Given the description of an element on the screen output the (x, y) to click on. 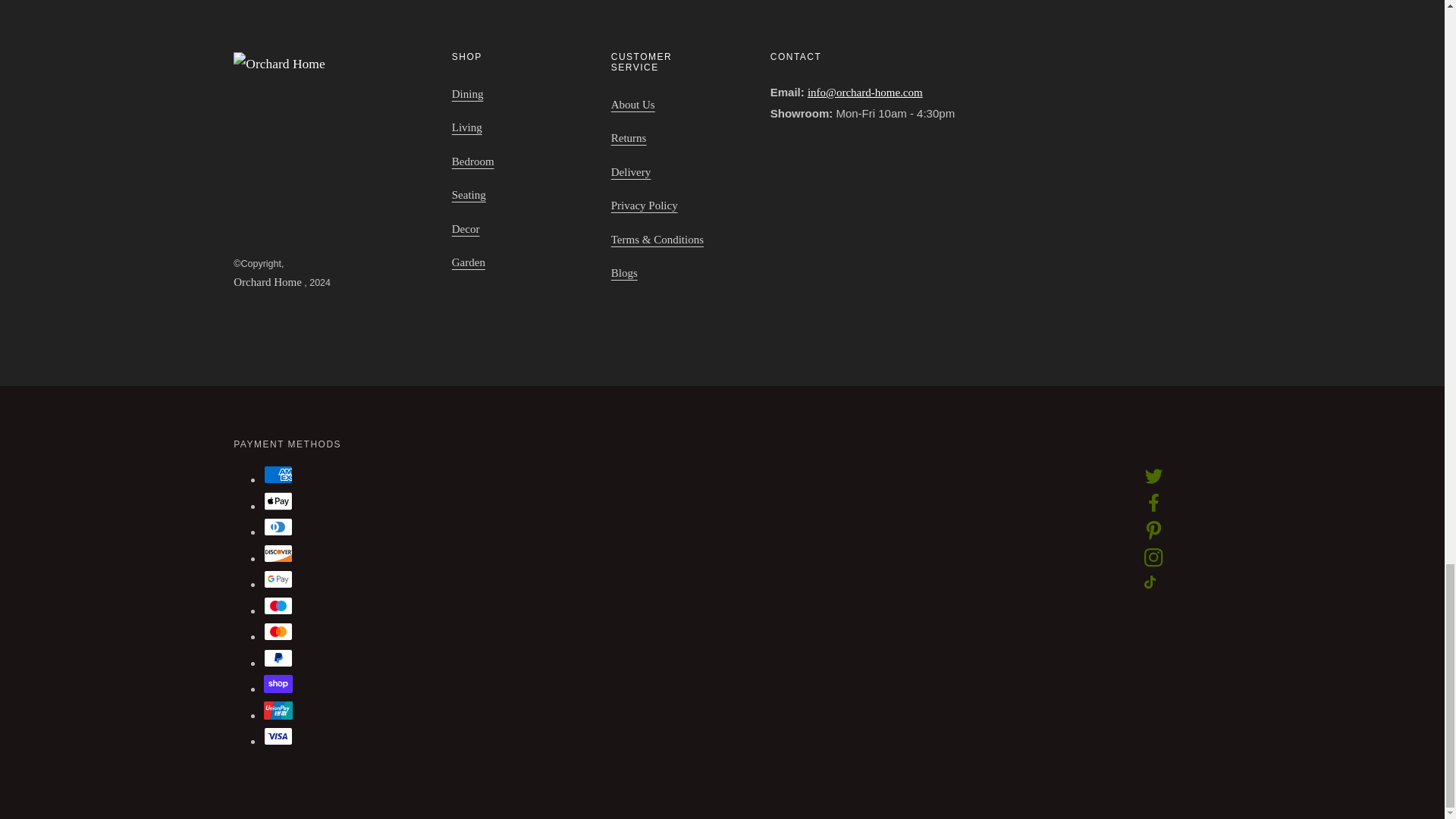
American Express (277, 475)
Google Pay (277, 579)
Discover (277, 553)
Apple Pay (277, 501)
Diners Club (277, 526)
